Given the description of an element on the screen output the (x, y) to click on. 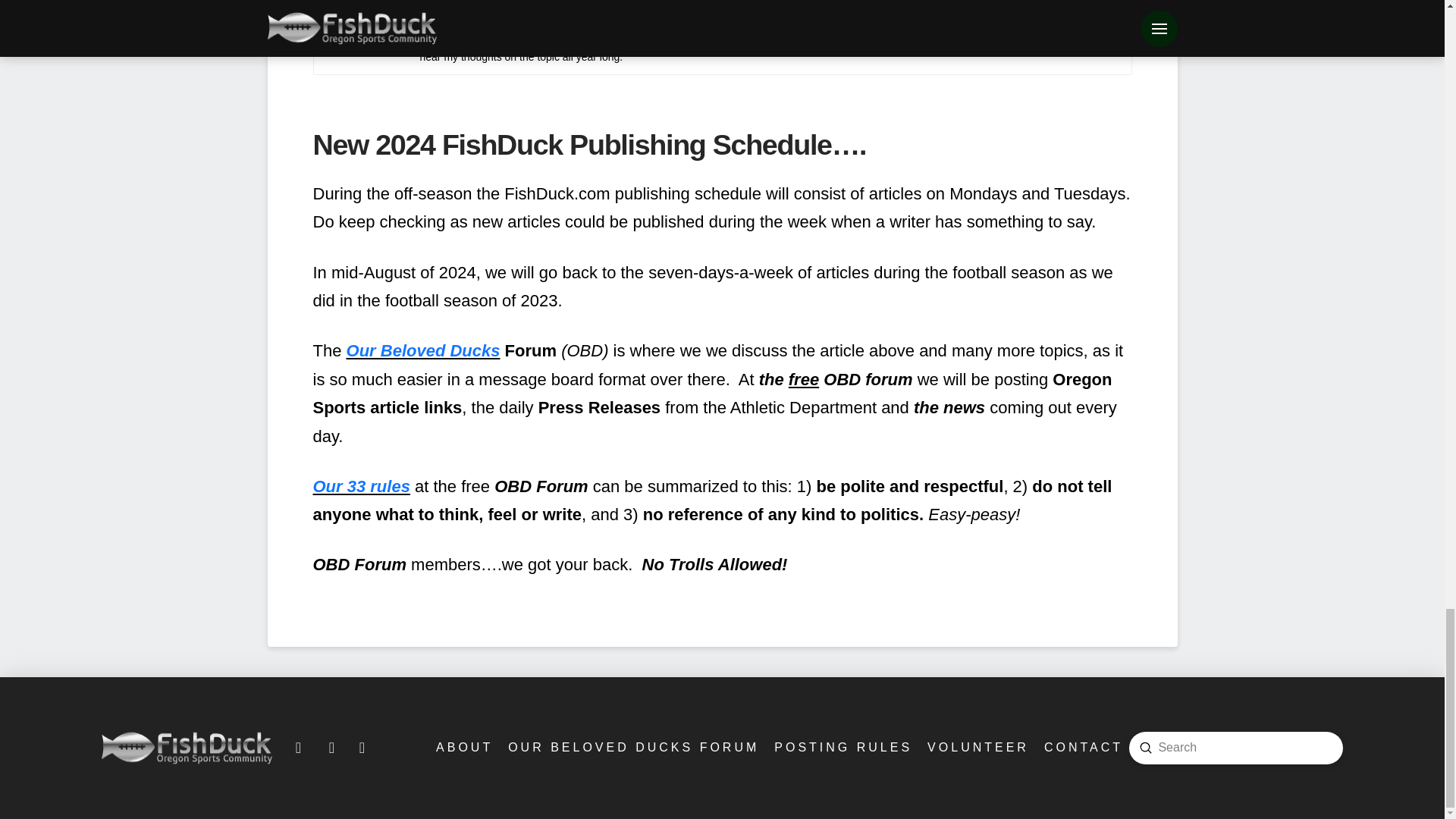
Commenting Rules (841, 747)
POSTING RULES (841, 747)
VOLUNTEER (976, 747)
Our 33 rules (361, 486)
Submit (1145, 747)
Our Beloved Ducks (423, 350)
CONTACT (1082, 747)
About (462, 747)
ABOUT (462, 747)
OUR BELOVED DUCKS FORUM (632, 747)
Volunteer (976, 747)
